Given the description of an element on the screen output the (x, y) to click on. 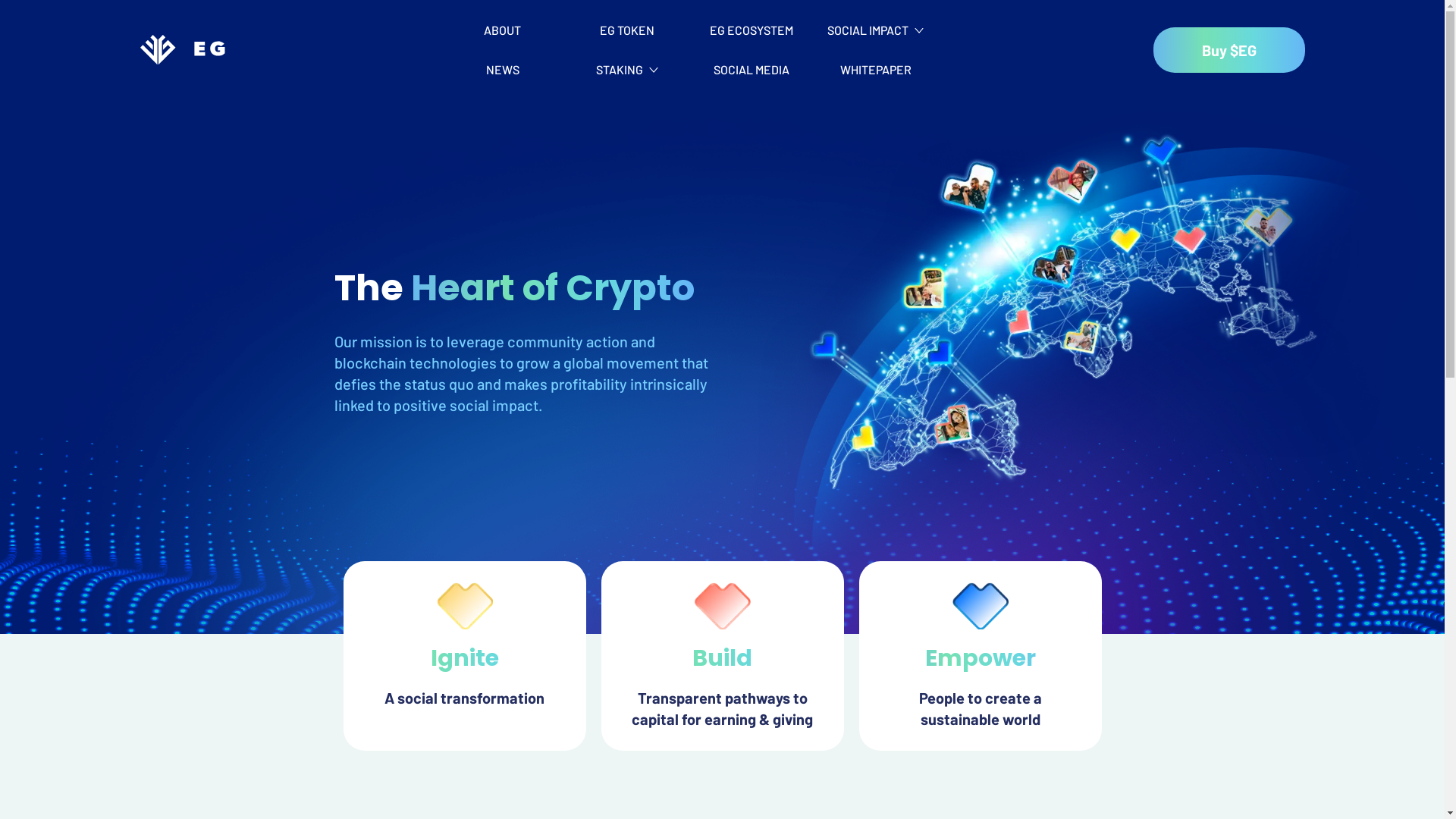
ABOUT Element type: text (501, 30)
SOCIAL IMPACT Element type: text (874, 30)
WHITEPAPER Element type: text (874, 69)
SOCIAL MEDIA Element type: text (750, 69)
EG ECOSYSTEM Element type: text (750, 30)
Buy $EG Element type: text (1228, 49)
STAKING Element type: text (626, 69)
NEWS Element type: text (501, 69)
EG TOKEN Element type: text (626, 30)
